Given the description of an element on the screen output the (x, y) to click on. 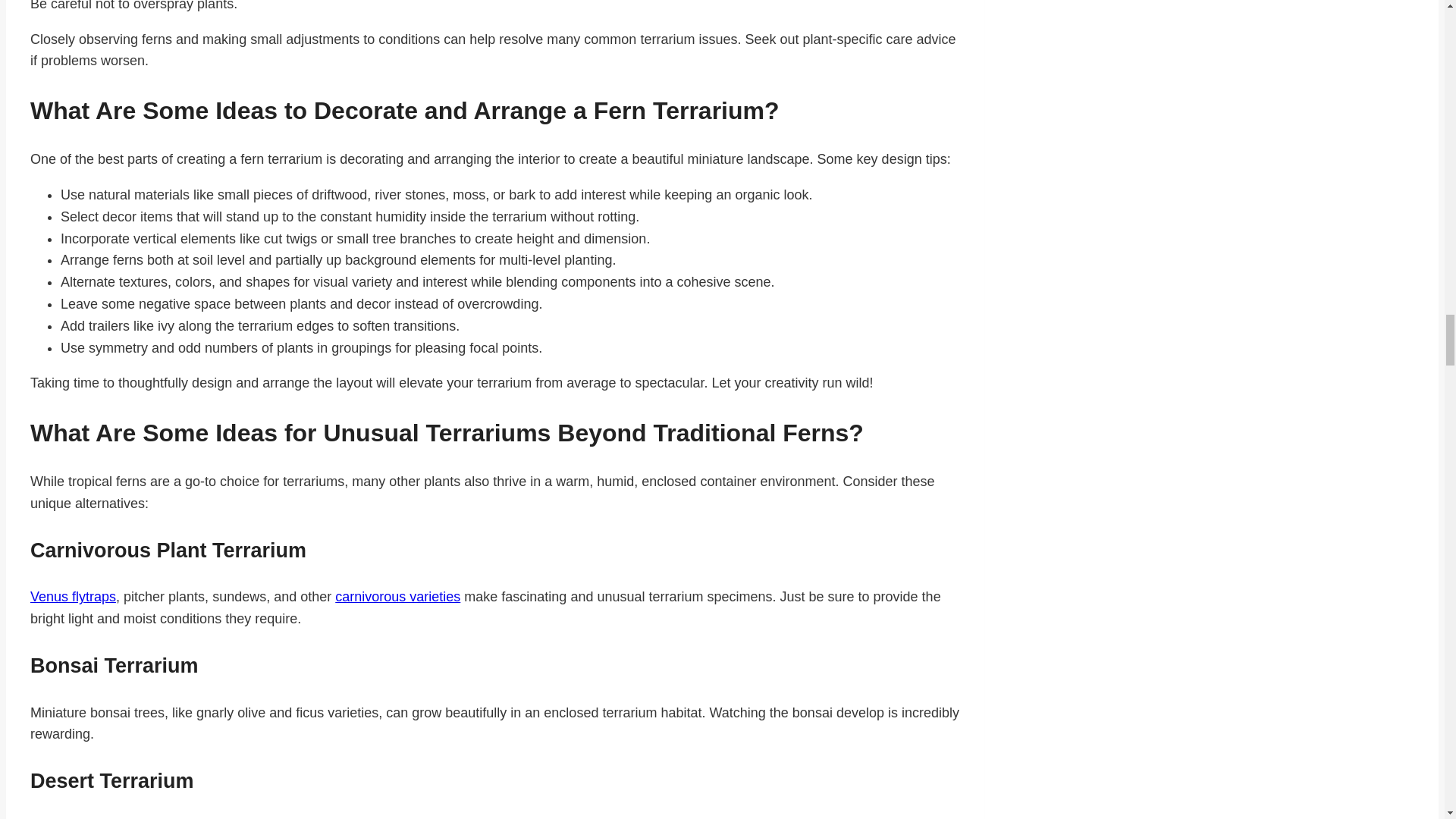
carnivorous varieties (397, 596)
Venus flytraps (73, 596)
